Given the description of an element on the screen output the (x, y) to click on. 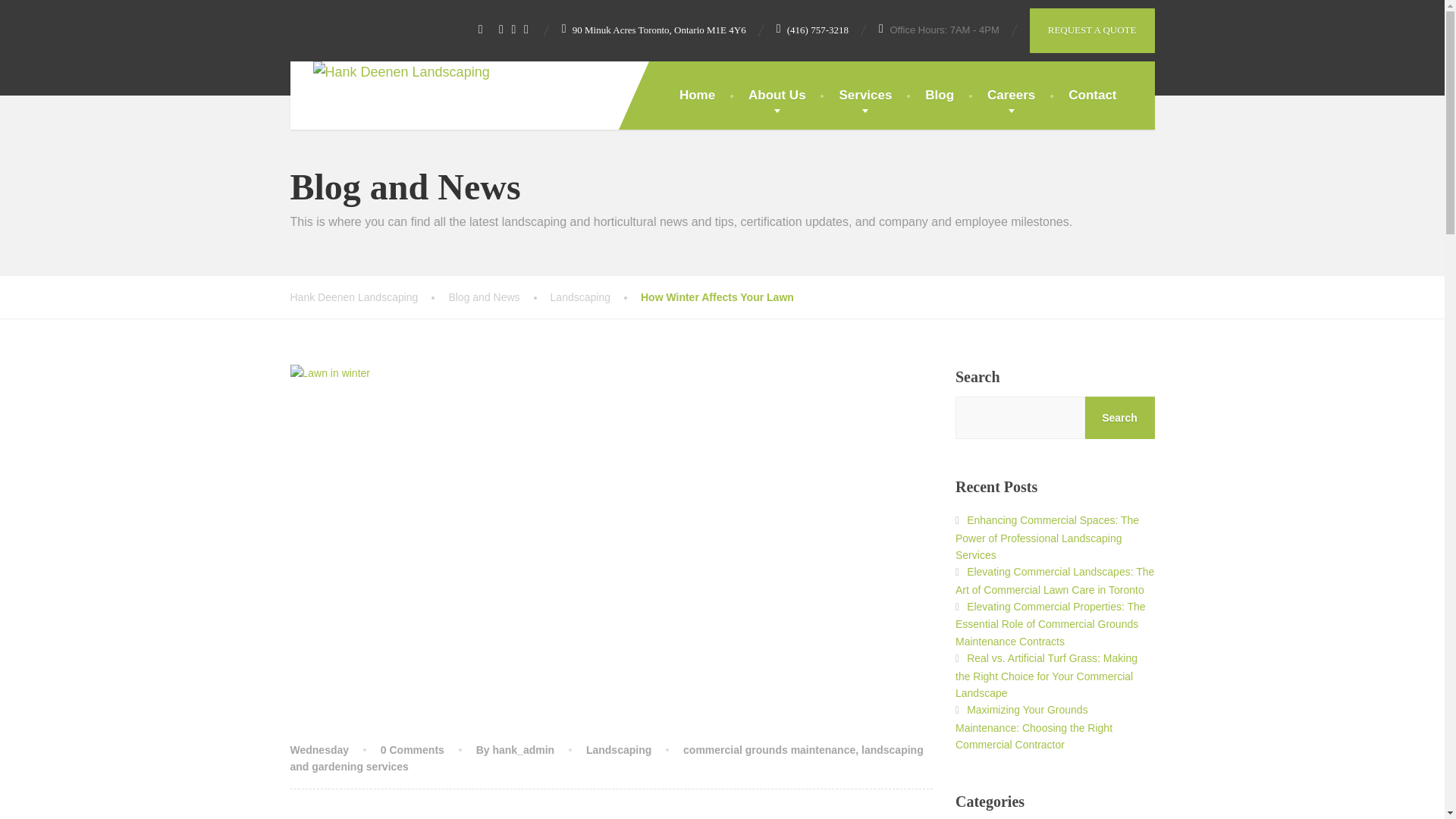
Home (696, 95)
Hank Deenen Landscaping (368, 297)
0 Comments (412, 749)
Go to the Landscaping Category archives. (595, 297)
commercial grounds maintenance (769, 749)
Careers (1010, 95)
Contact (1091, 95)
Go to Hank Deenen Landscaping. (368, 297)
landscaping and gardening services (606, 758)
90 Minuk Acres Toronto, Ontario M1E 4Y6 (653, 30)
